Given the description of an element on the screen output the (x, y) to click on. 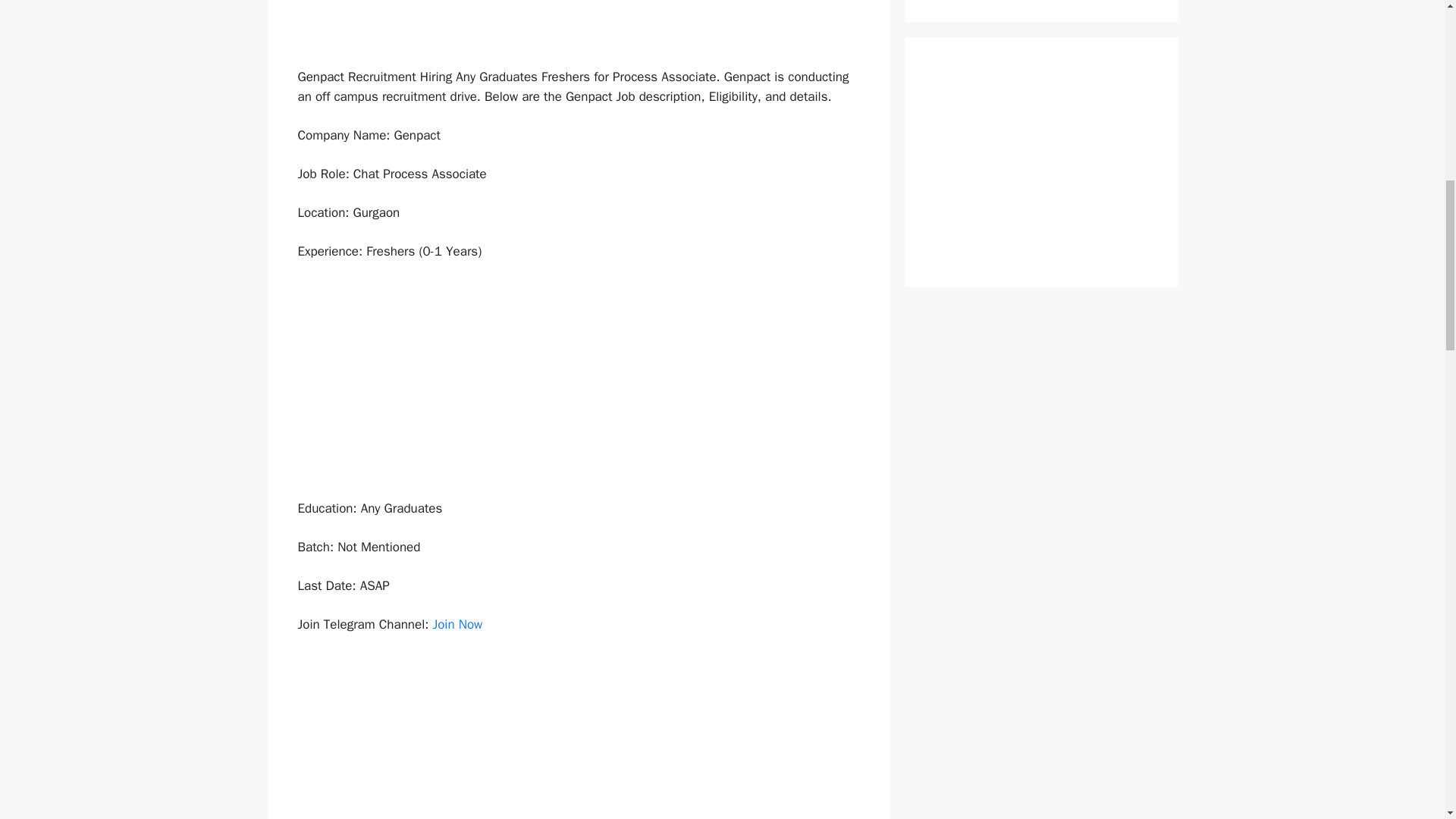
Join Now (456, 624)
